Given the description of an element on the screen output the (x, y) to click on. 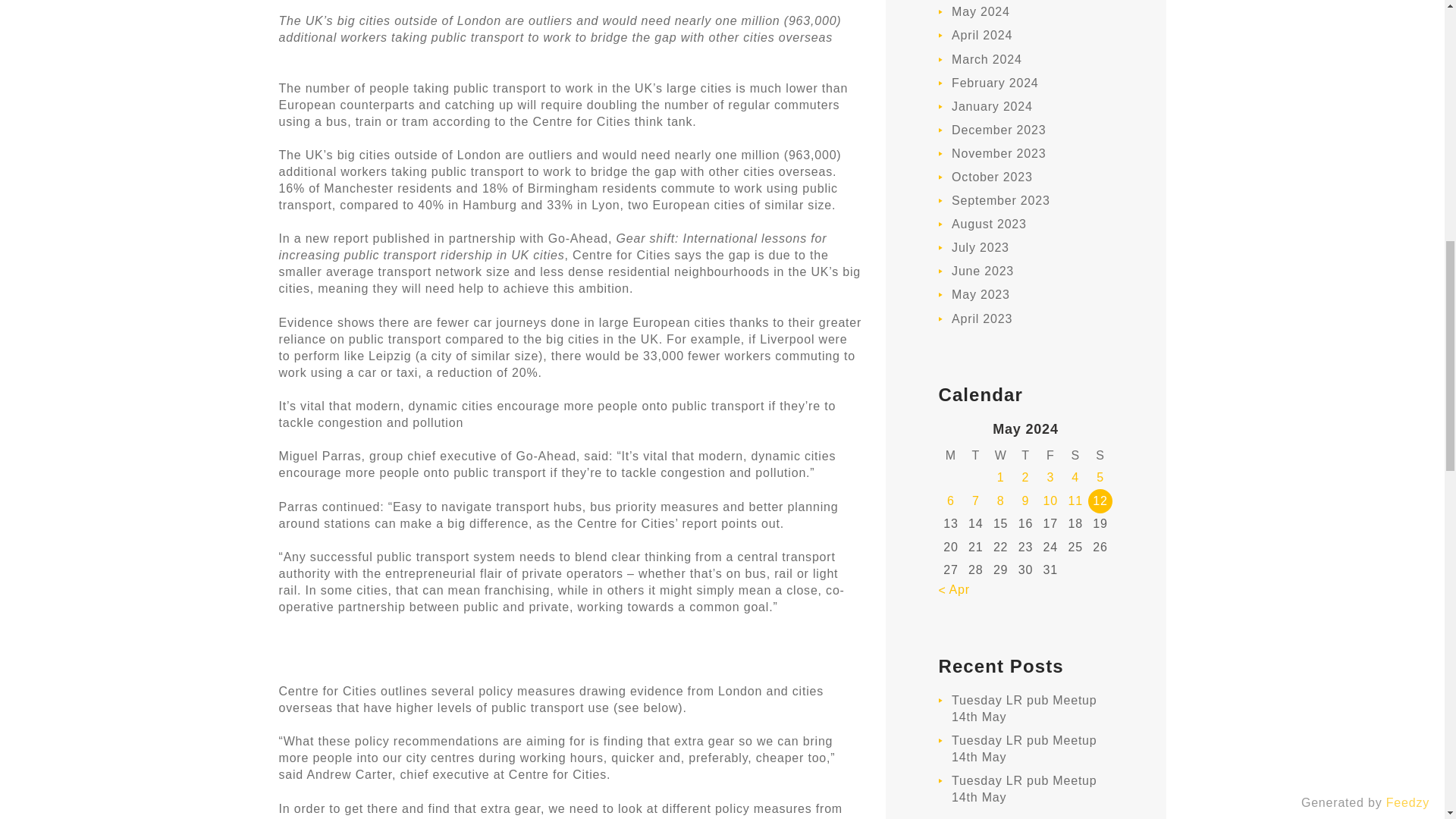
Sunday (1100, 455)
Saturday (1074, 455)
May 2024 (981, 11)
Friday (1050, 455)
Thursday (1025, 455)
Monday (951, 455)
February 2024 (995, 82)
March 2024 (987, 59)
April 2024 (981, 34)
Wednesday (1000, 455)
Tuesday (975, 455)
